Given the description of an element on the screen output the (x, y) to click on. 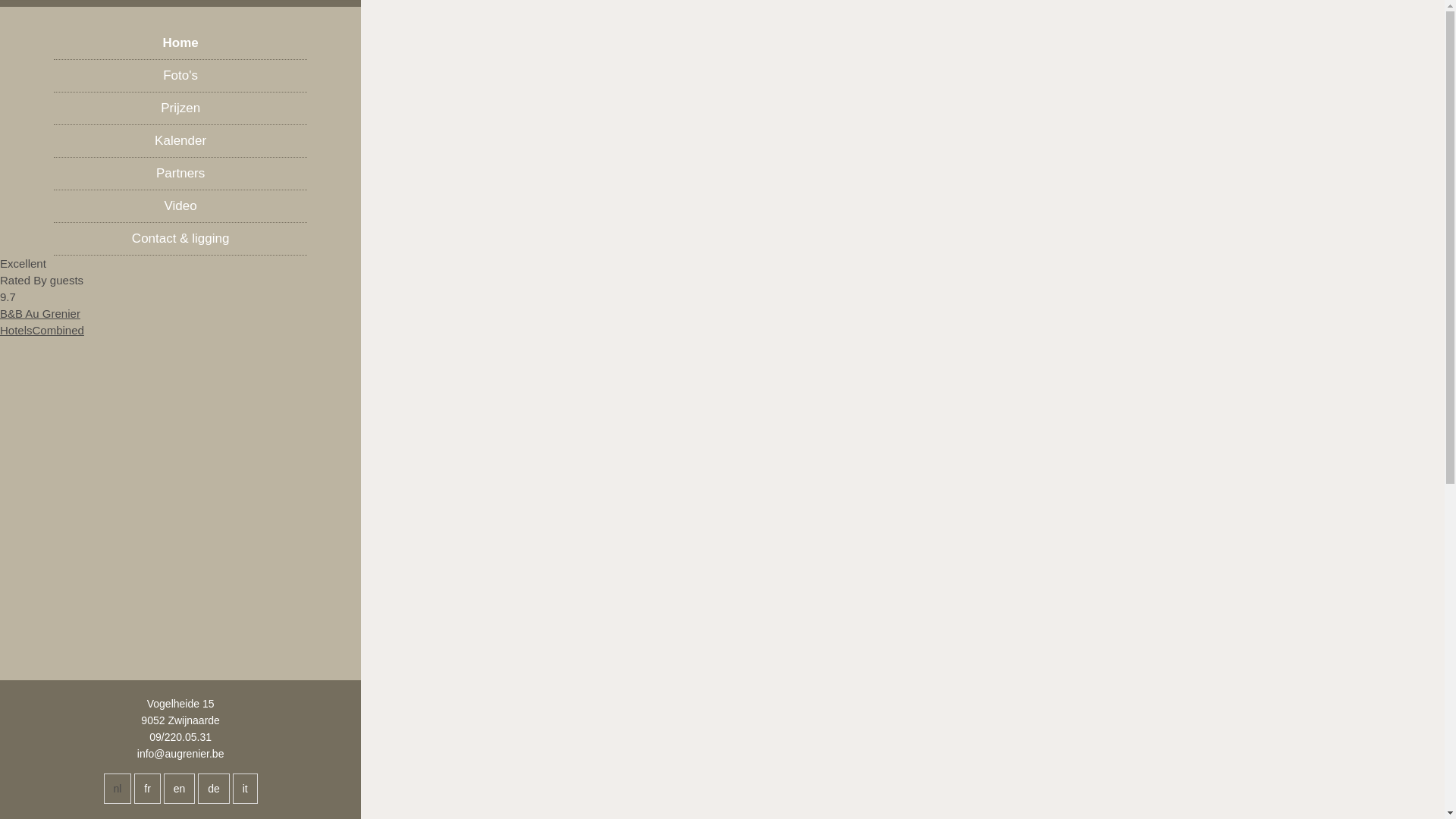
Partners Element type: text (179, 173)
Contact & ligging Element type: text (179, 238)
de Element type: text (213, 788)
info@augrenier.be Element type: text (180, 753)
en Element type: text (179, 788)
Home Element type: text (179, 43)
Kalender Element type: text (179, 141)
HotelsCombined Element type: text (42, 329)
B&B Au Grenier Element type: text (40, 313)
fr Element type: text (147, 788)
Prijzen Element type: text (179, 108)
nl Element type: text (117, 788)
it Element type: text (244, 788)
Video Element type: text (179, 206)
Foto's Element type: text (179, 75)
